Given the description of an element on the screen output the (x, y) to click on. 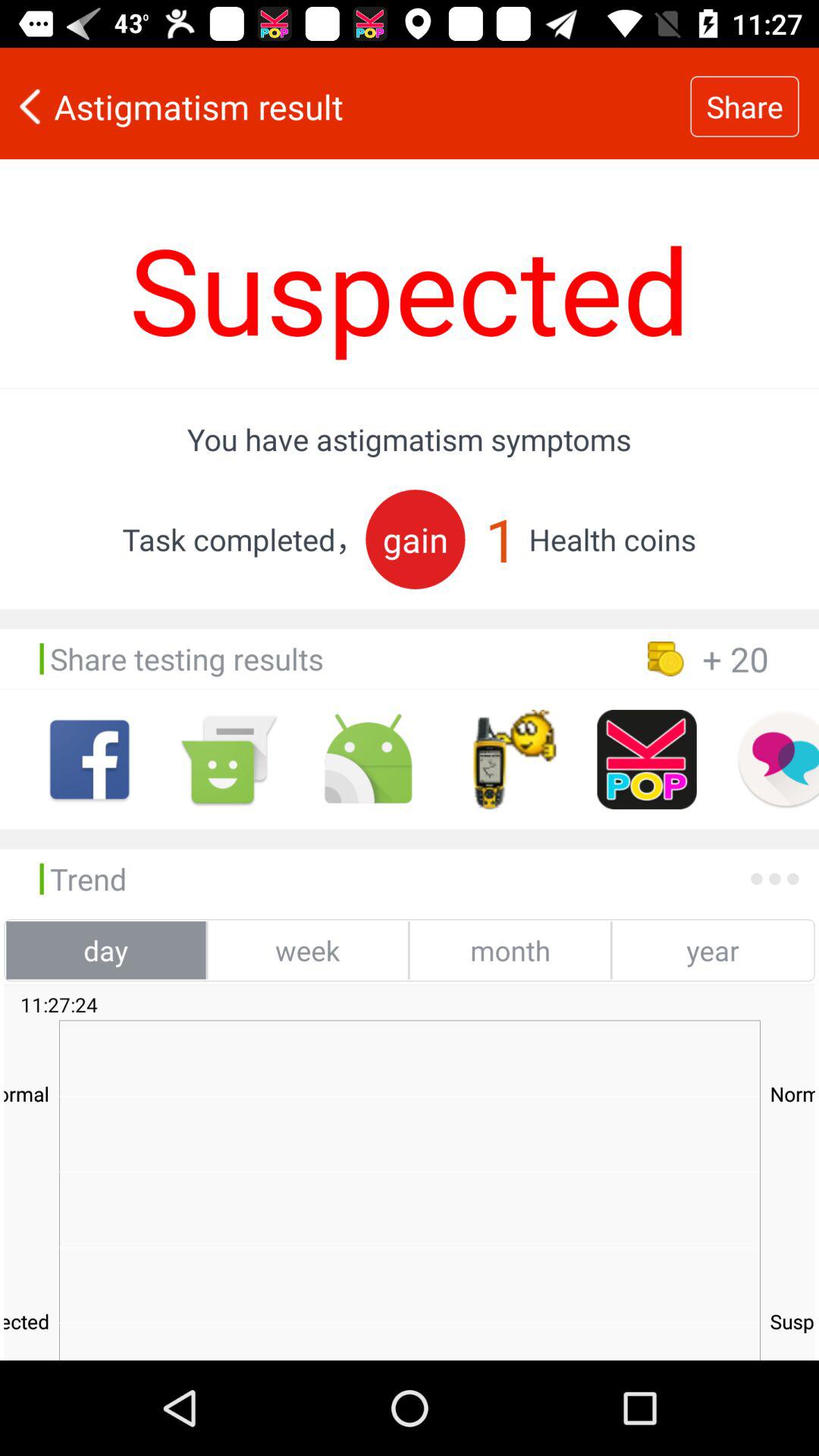
share on kpop (646, 759)
